Given the description of an element on the screen output the (x, y) to click on. 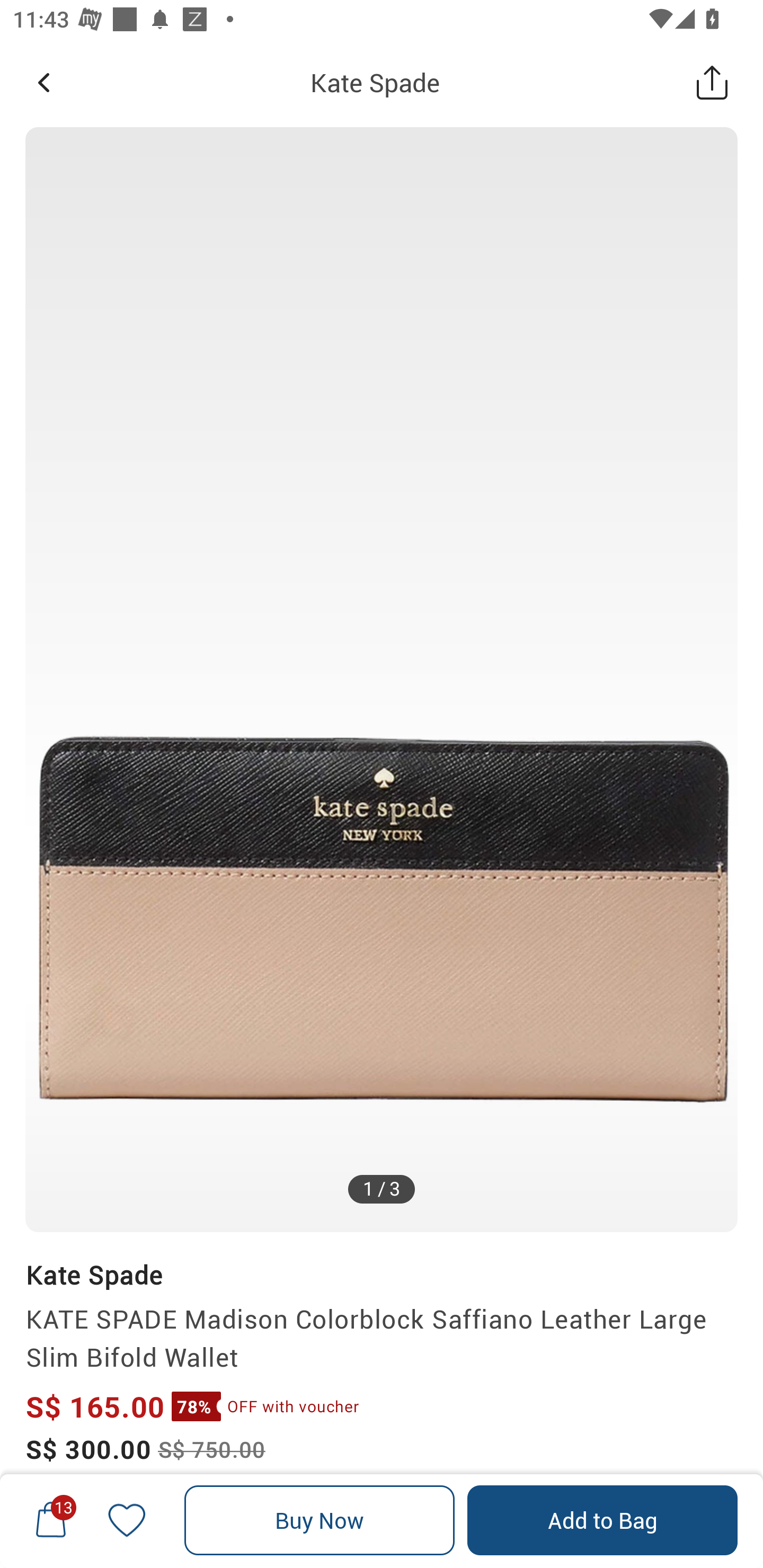
Kate Spade (375, 82)
Share this Product (711, 82)
Kate Spade (93, 1274)
Buy Now (319, 1519)
Add to Bag (601, 1519)
13 (50, 1520)
